Given the description of an element on the screen output the (x, y) to click on. 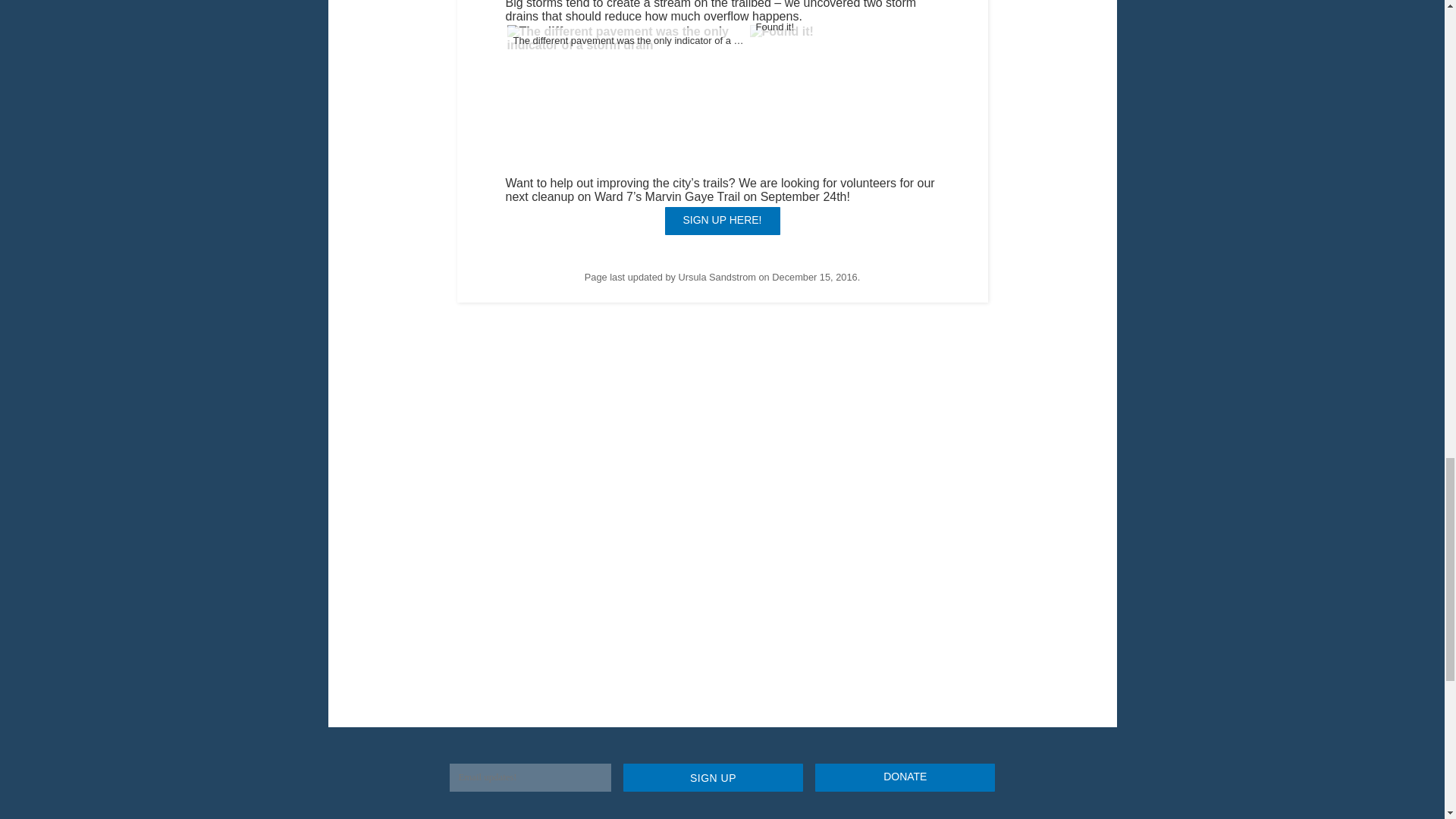
Sign Up (713, 777)
Email (529, 777)
